Given the description of an element on the screen output the (x, y) to click on. 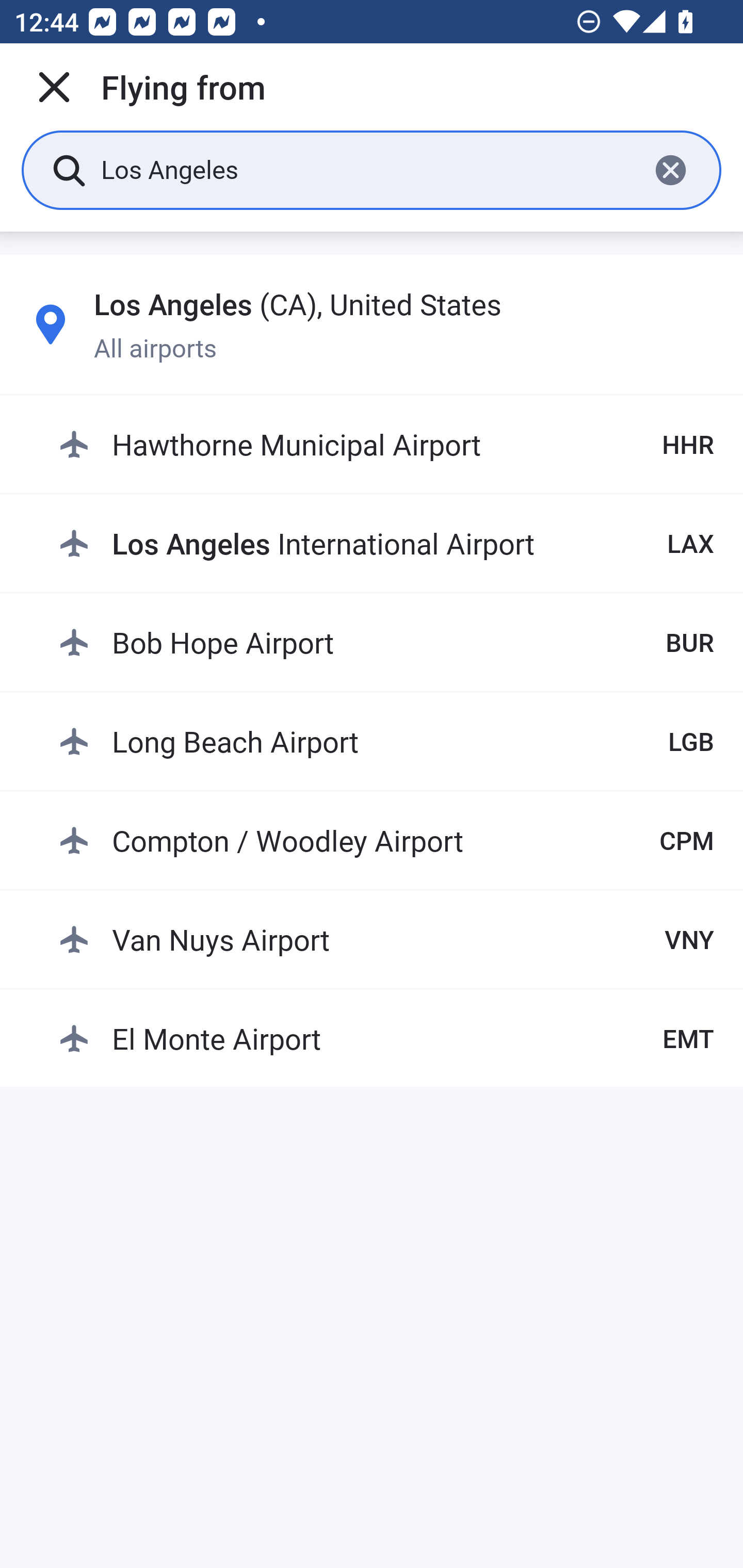
Los Angeles (367, 169)
Los Angeles (CA), United States All airports (371, 324)
Hawthorne Municipal Airport HHR (385, 444)
Los Angeles International Airport LAX (385, 543)
Bob Hope Airport BUR (385, 641)
Long Beach Airport LGB (385, 740)
Compton / Woodley Airport CPM (385, 839)
Van Nuys Airport VNY (385, 939)
El Monte Airport EMT (385, 1038)
